Given the description of an element on the screen output the (x, y) to click on. 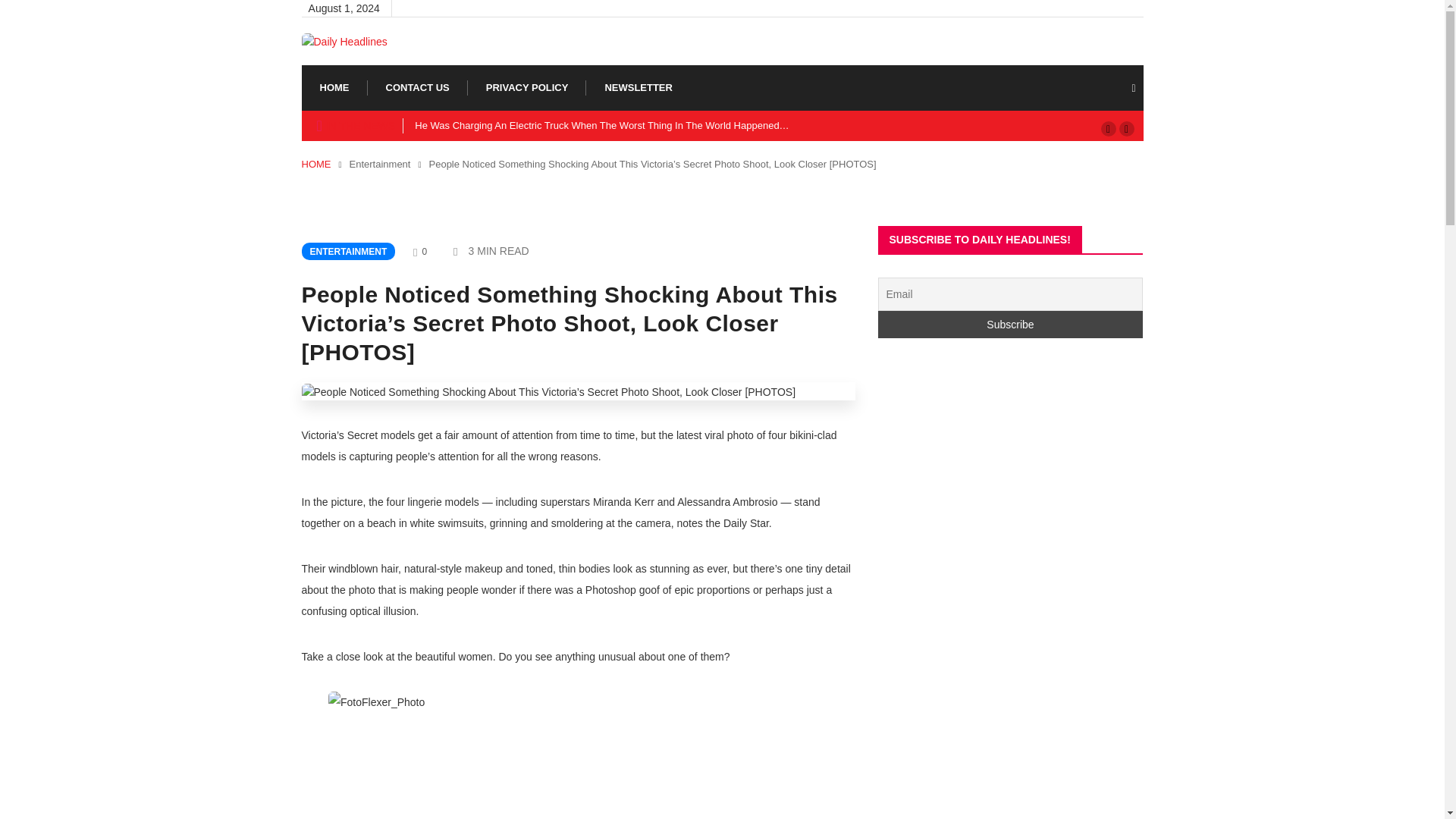
PRIVACY POLICY (527, 87)
CONTACT US (416, 87)
NEWSLETTER (638, 87)
HOME (316, 163)
Subscribe (1009, 324)
ENTERTAINMENT (348, 251)
Subscribe (1009, 324)
